Given the description of an element on the screen output the (x, y) to click on. 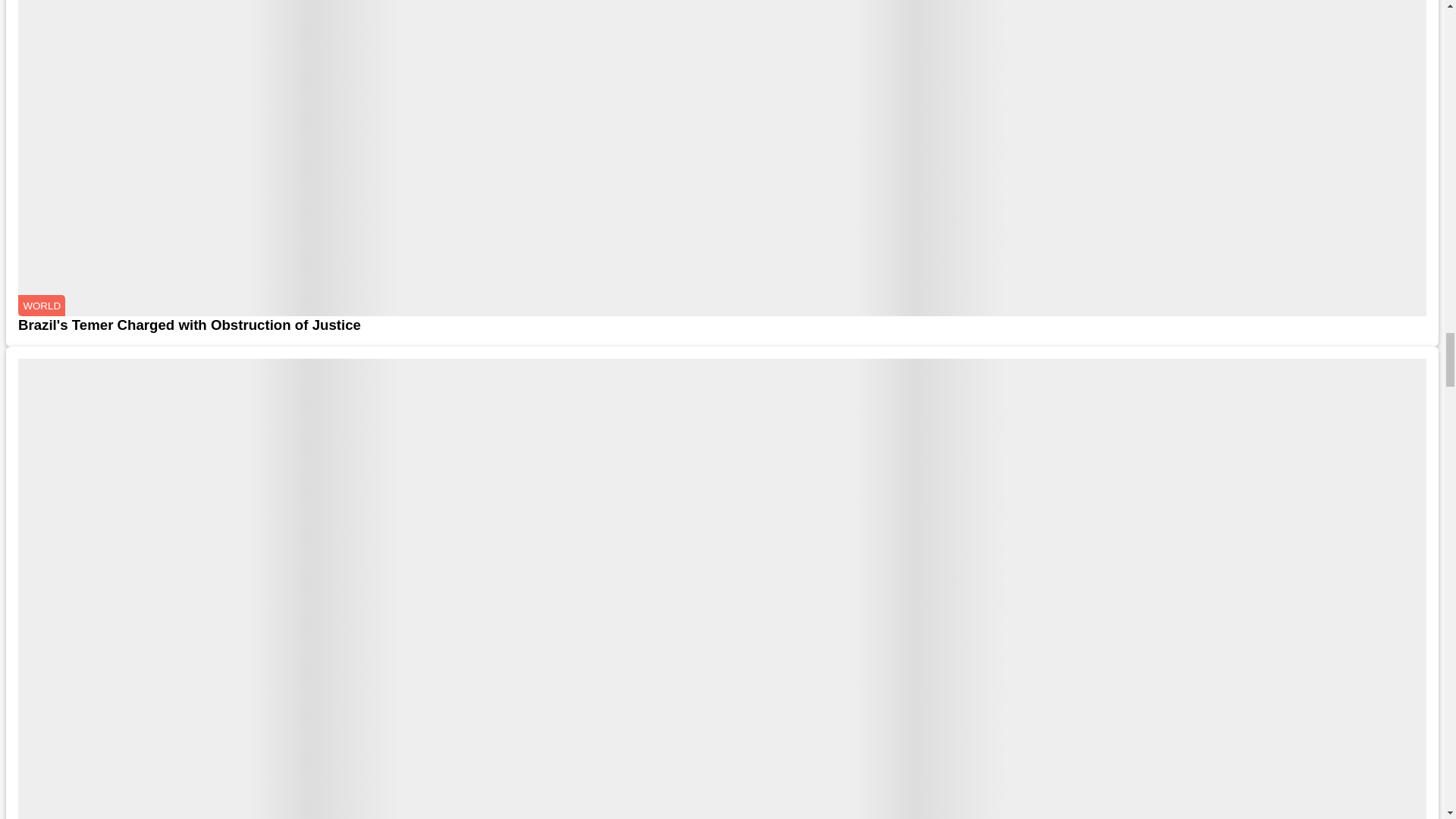
Brazil's Temer Charged with Obstruction of Justice (721, 325)
WORLD (41, 305)
